Given the description of an element on the screen output the (x, y) to click on. 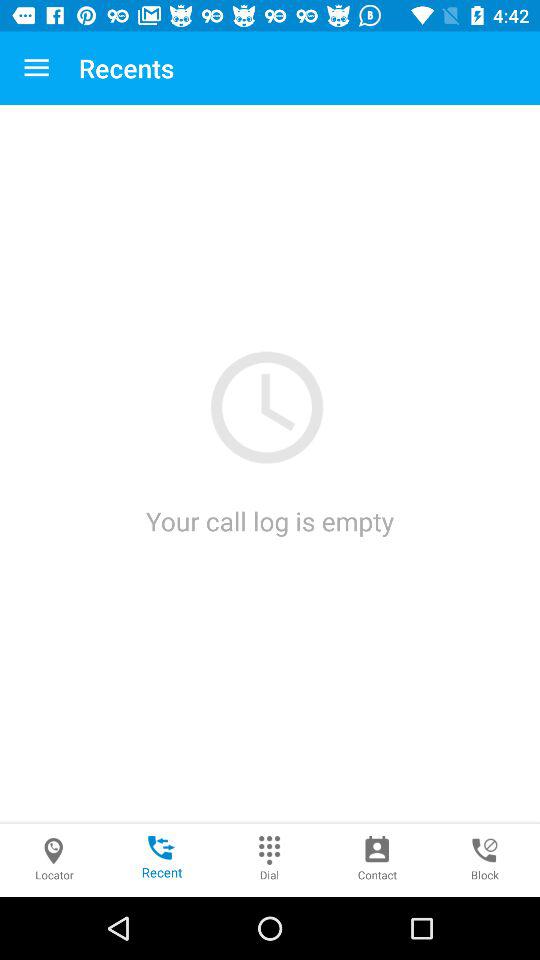
turn off item next to the recents item (36, 68)
